Given the description of an element on the screen output the (x, y) to click on. 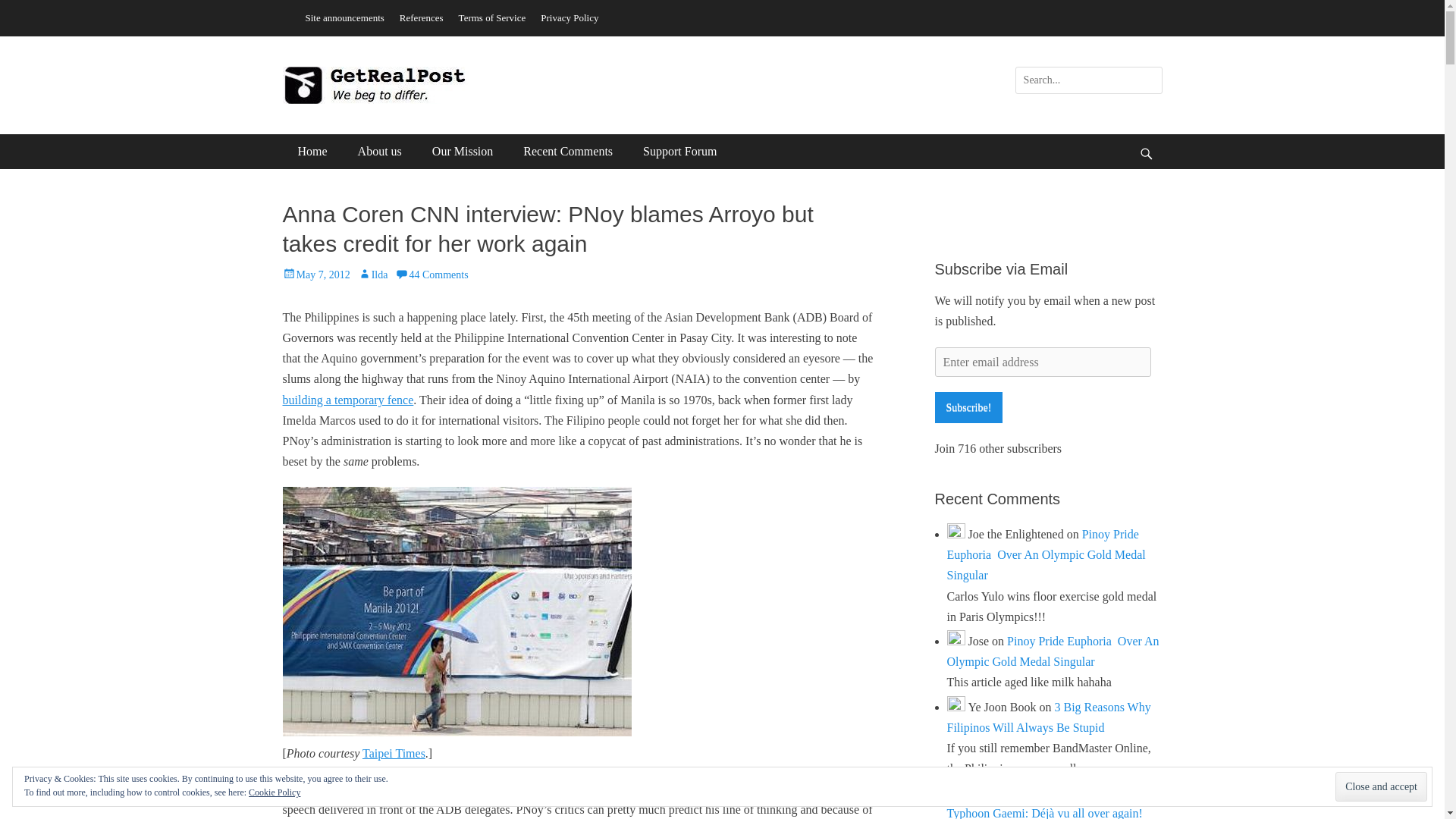
Our Mission (462, 151)
building a temporary fence (347, 399)
Site announcements (344, 17)
Search for: (1087, 80)
Taipei Times (393, 753)
Support Forum (679, 151)
Get Real Post (375, 85)
44 Comments (430, 274)
Terms of Service (492, 17)
Home (312, 151)
References (421, 17)
Close and accept (1380, 786)
Search (22, 9)
May 7, 2012 (315, 274)
Recent Comments (567, 151)
